Given the description of an element on the screen output the (x, y) to click on. 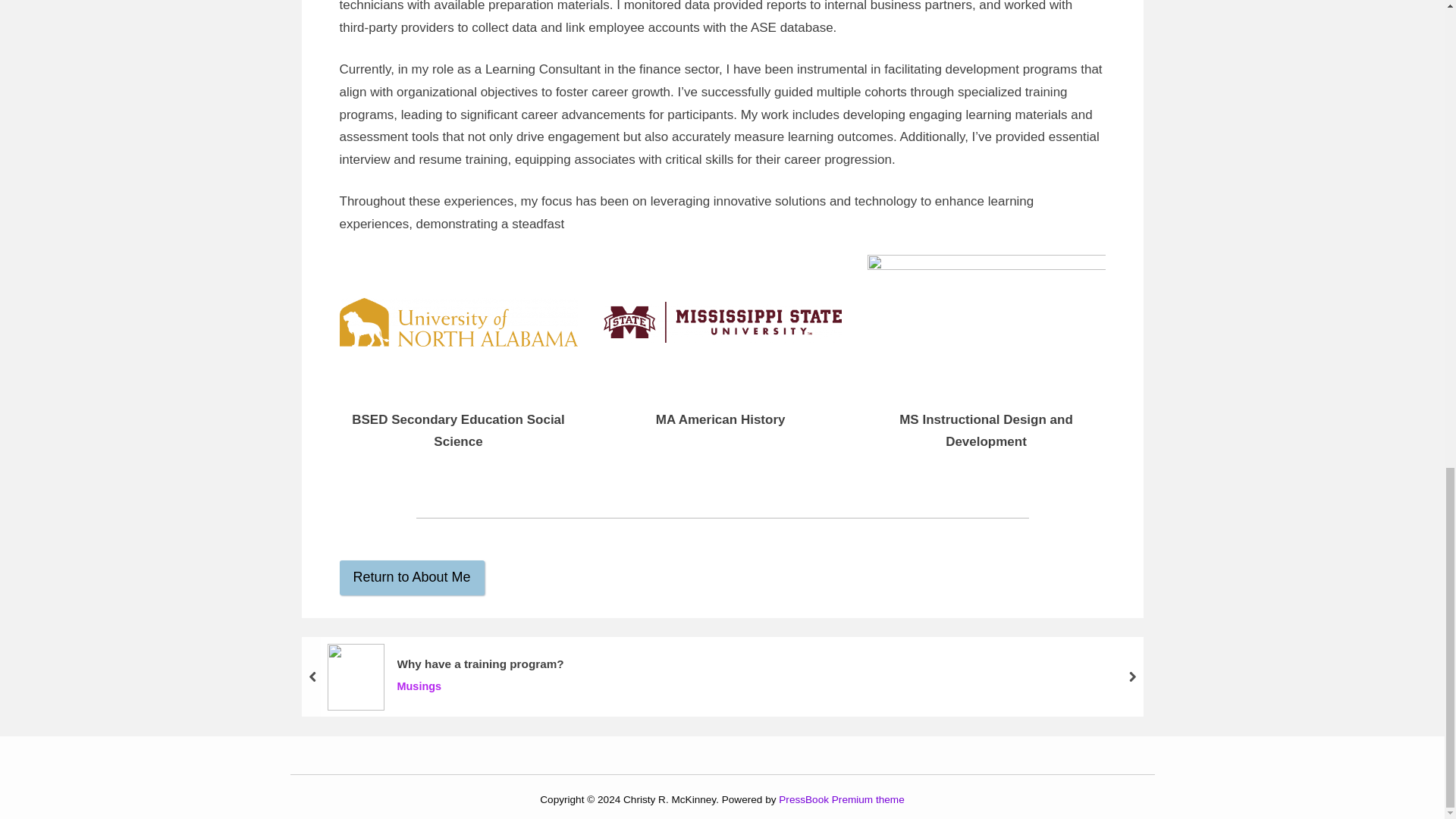
Musings (479, 686)
PressBook Premium theme (841, 799)
Why have a training program? (479, 664)
